Given the description of an element on the screen output the (x, y) to click on. 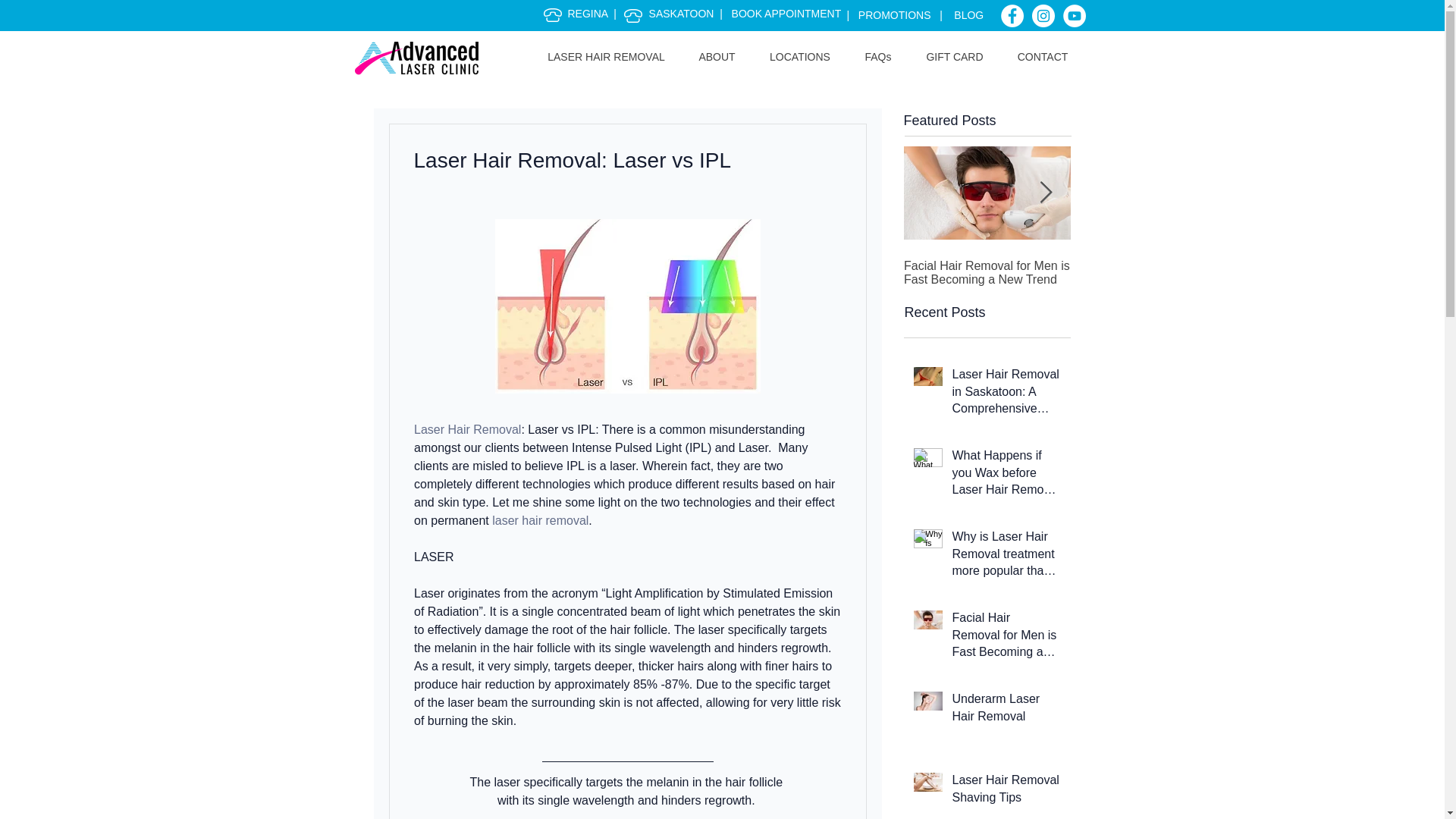
REGINA (587, 13)
SASKATOON (681, 13)
LOCATIONS (799, 56)
What Happens if you Wax before Laser Hair Removal Session? (1006, 475)
BLOG (968, 15)
PROMOTIONS    (899, 15)
Laser Hair Removal Shaving Tips (1006, 792)
GIFT CARD (954, 56)
BOOK APPOINTMENT (786, 13)
ABOUT (716, 56)
Underarm Laser Hair Removal (1153, 265)
Underarm Laser Hair Removal (1006, 711)
LASER HAIR REMOVAL (606, 56)
laser hair removal (540, 520)
Laser Hair Removal (467, 429)
